Given the description of an element on the screen output the (x, y) to click on. 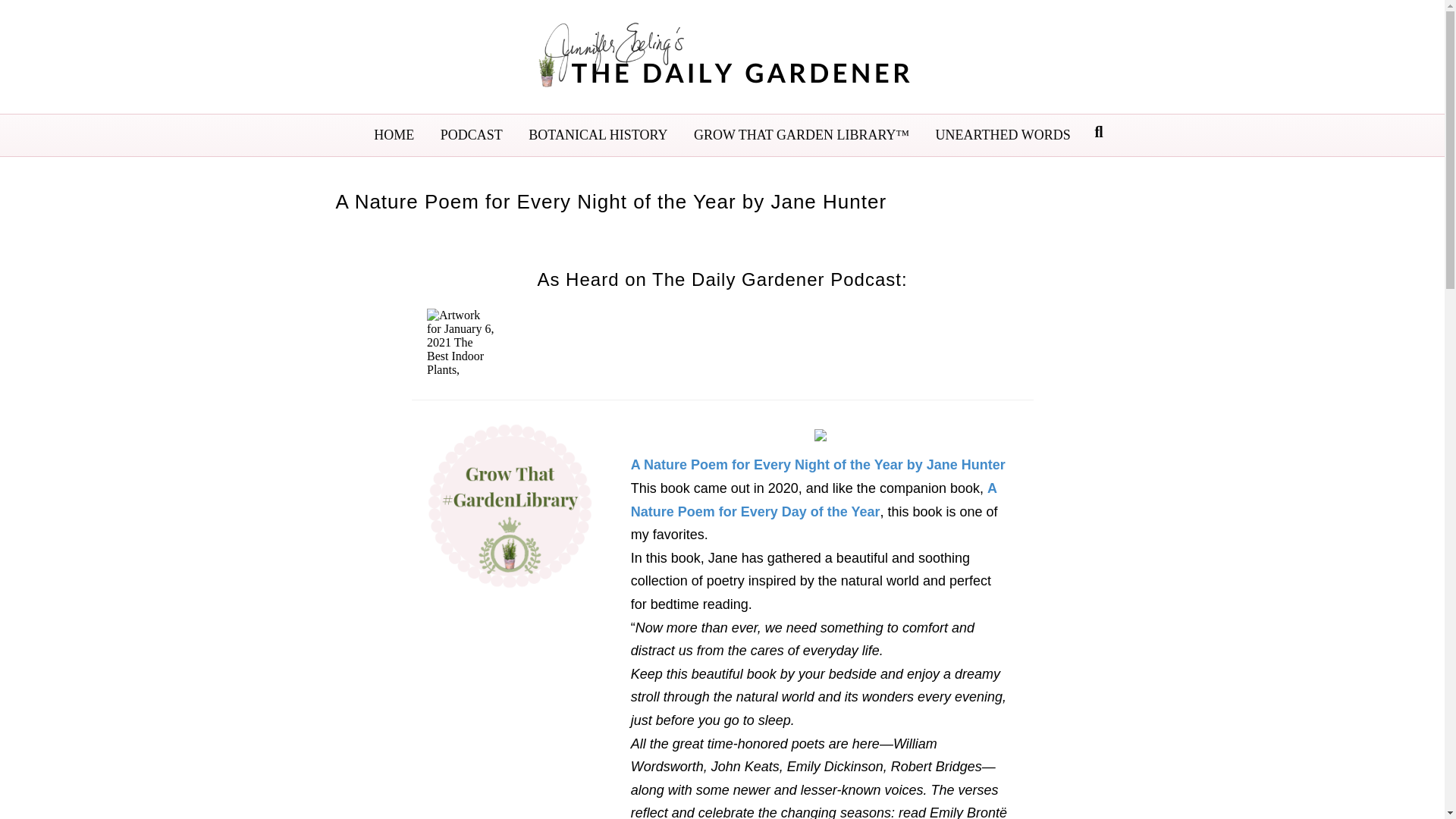
UNEARTHED WORDS (1002, 135)
BOTANICAL HISTORY (597, 135)
A Nature Poem for Every Day of the Year (813, 499)
A Nature Poem for Every Night of the Year by Jane Hunter (818, 464)
HOME (393, 135)
PODCAST (471, 135)
